Given the description of an element on the screen output the (x, y) to click on. 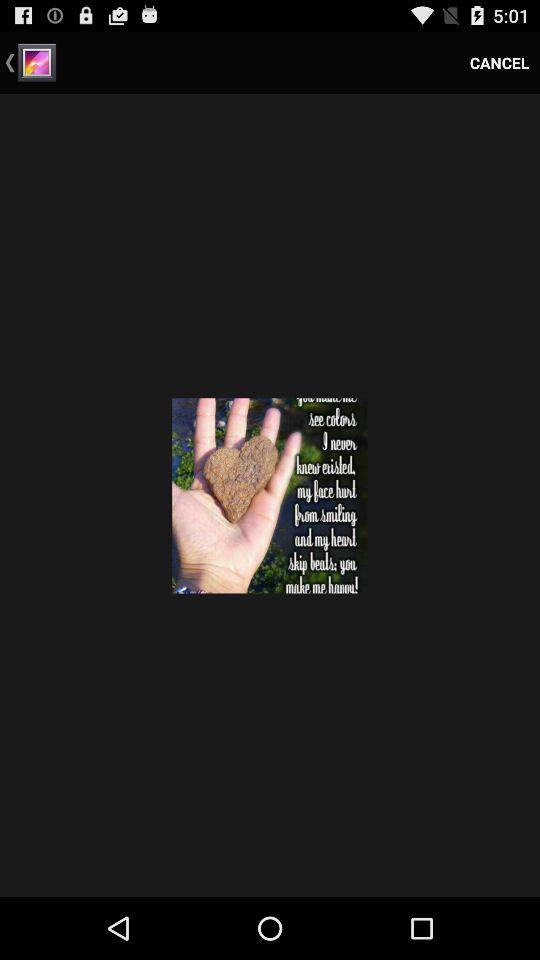
click cancel icon (499, 62)
